Given the description of an element on the screen output the (x, y) to click on. 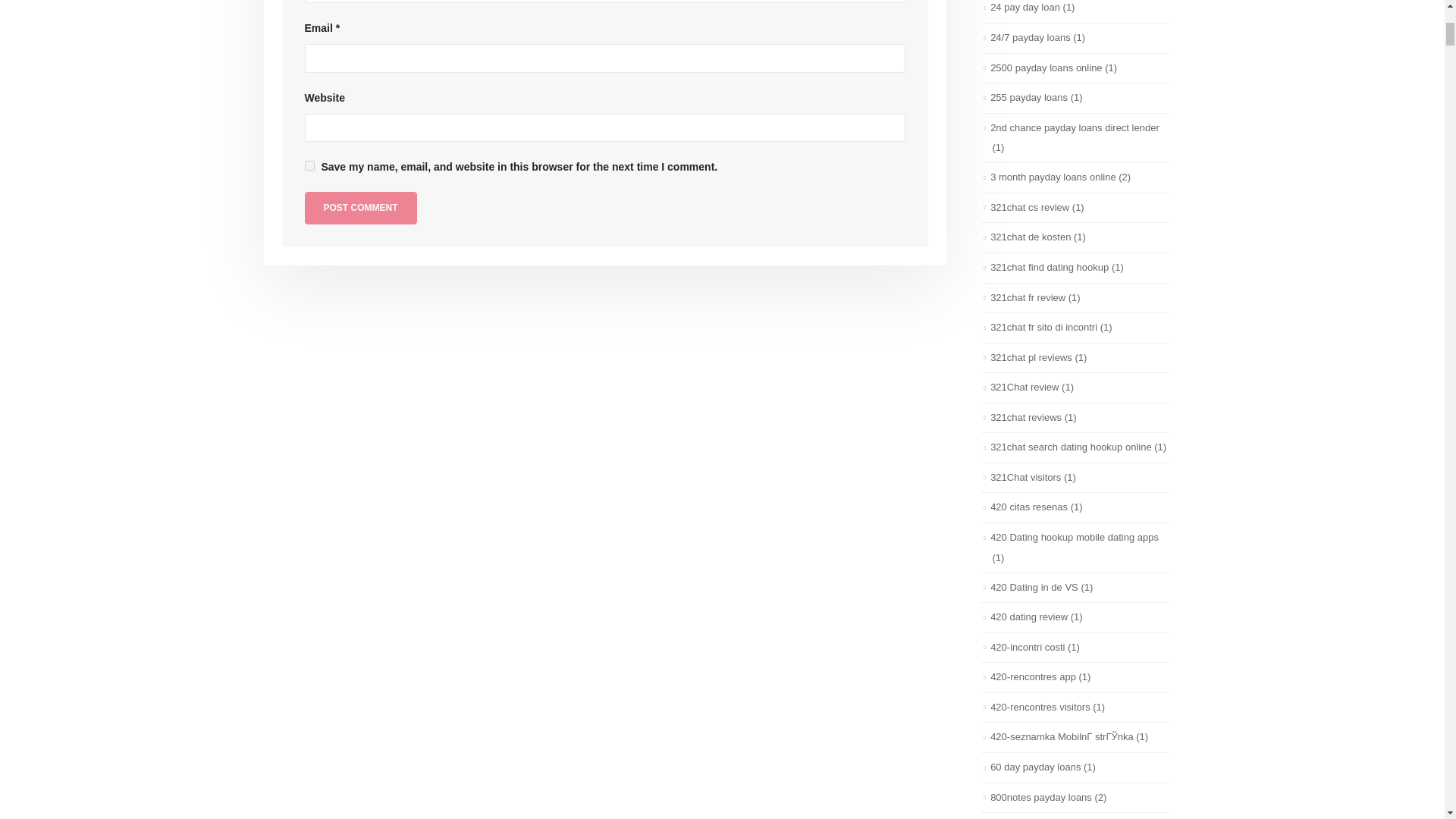
yes (309, 165)
Post Comment (360, 207)
